Given the description of an element on the screen output the (x, y) to click on. 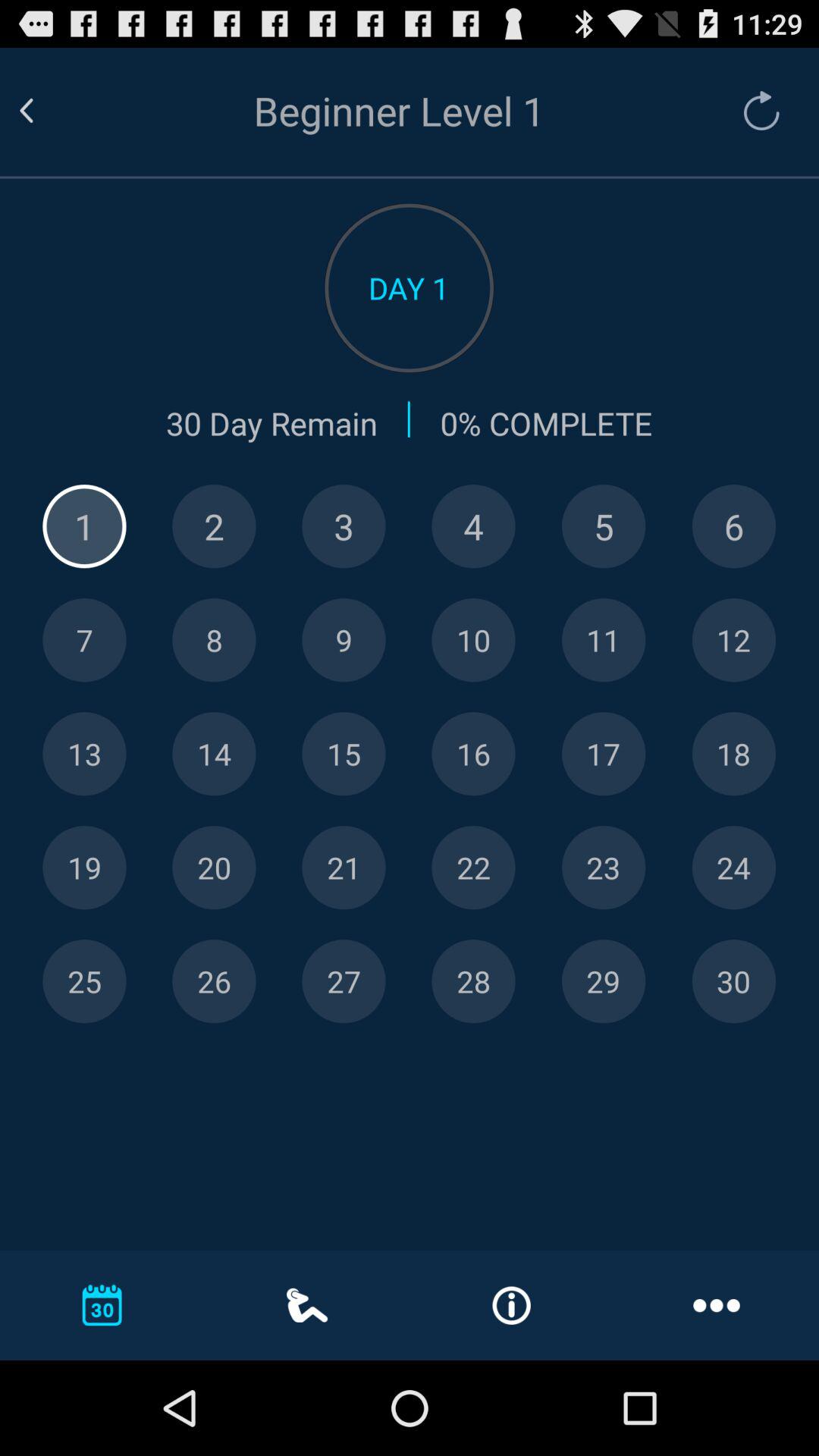
go to 7th day of training (84, 639)
